Given the description of an element on the screen output the (x, y) to click on. 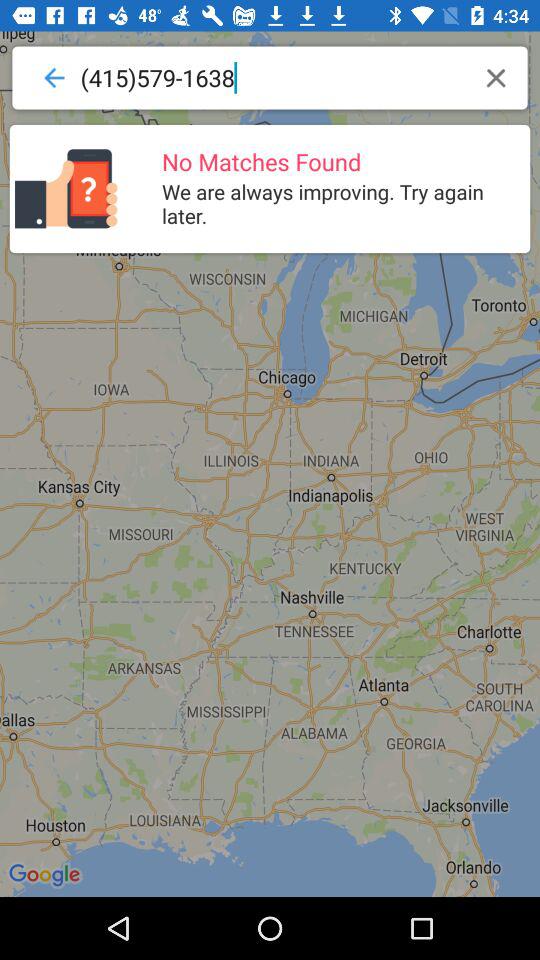
select the item above the we are always icon (495, 77)
